Given the description of an element on the screen output the (x, y) to click on. 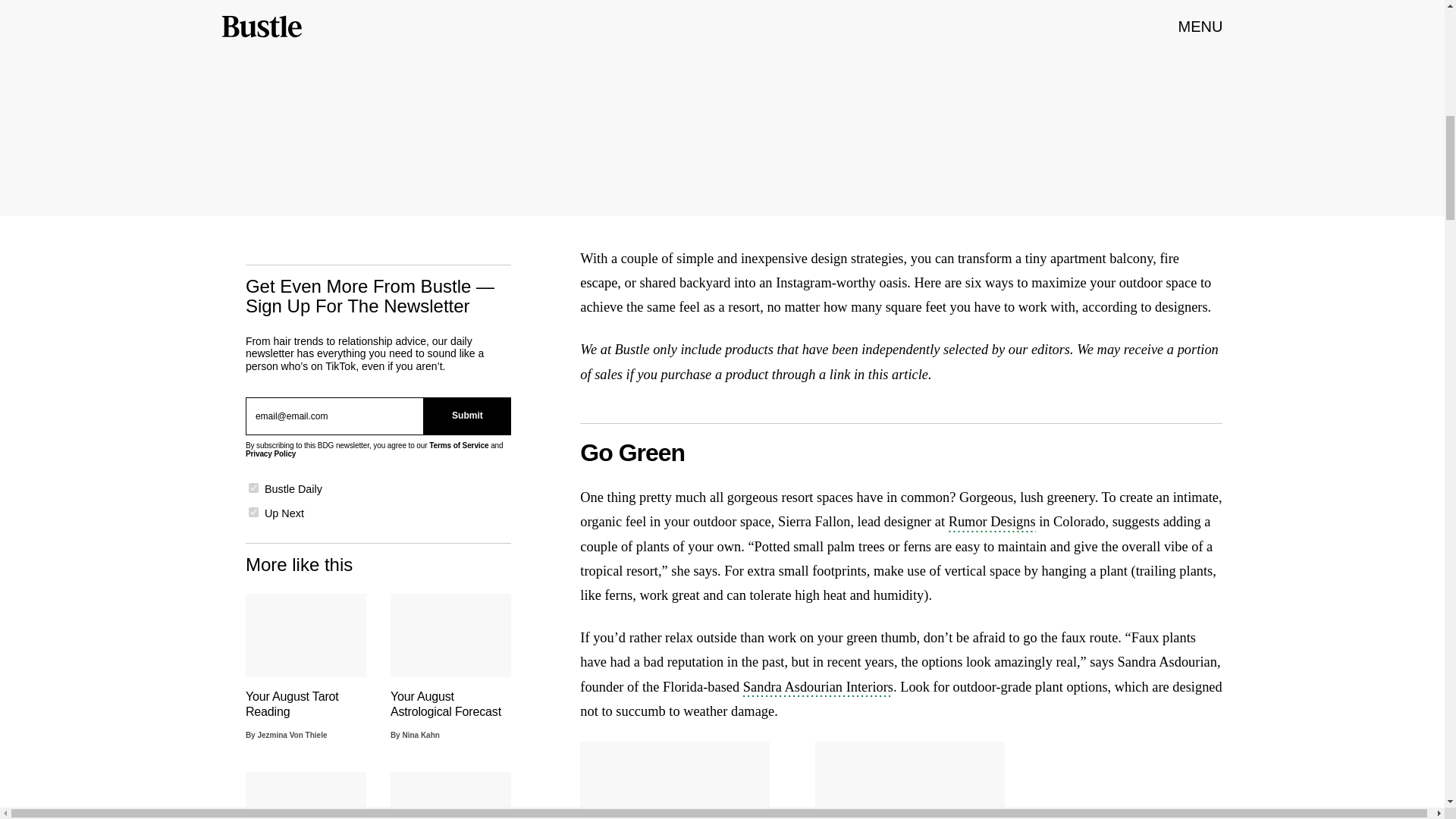
Sandra Asdourian Interiors (817, 688)
Rumor Designs (992, 523)
